Given the description of an element on the screen output the (x, y) to click on. 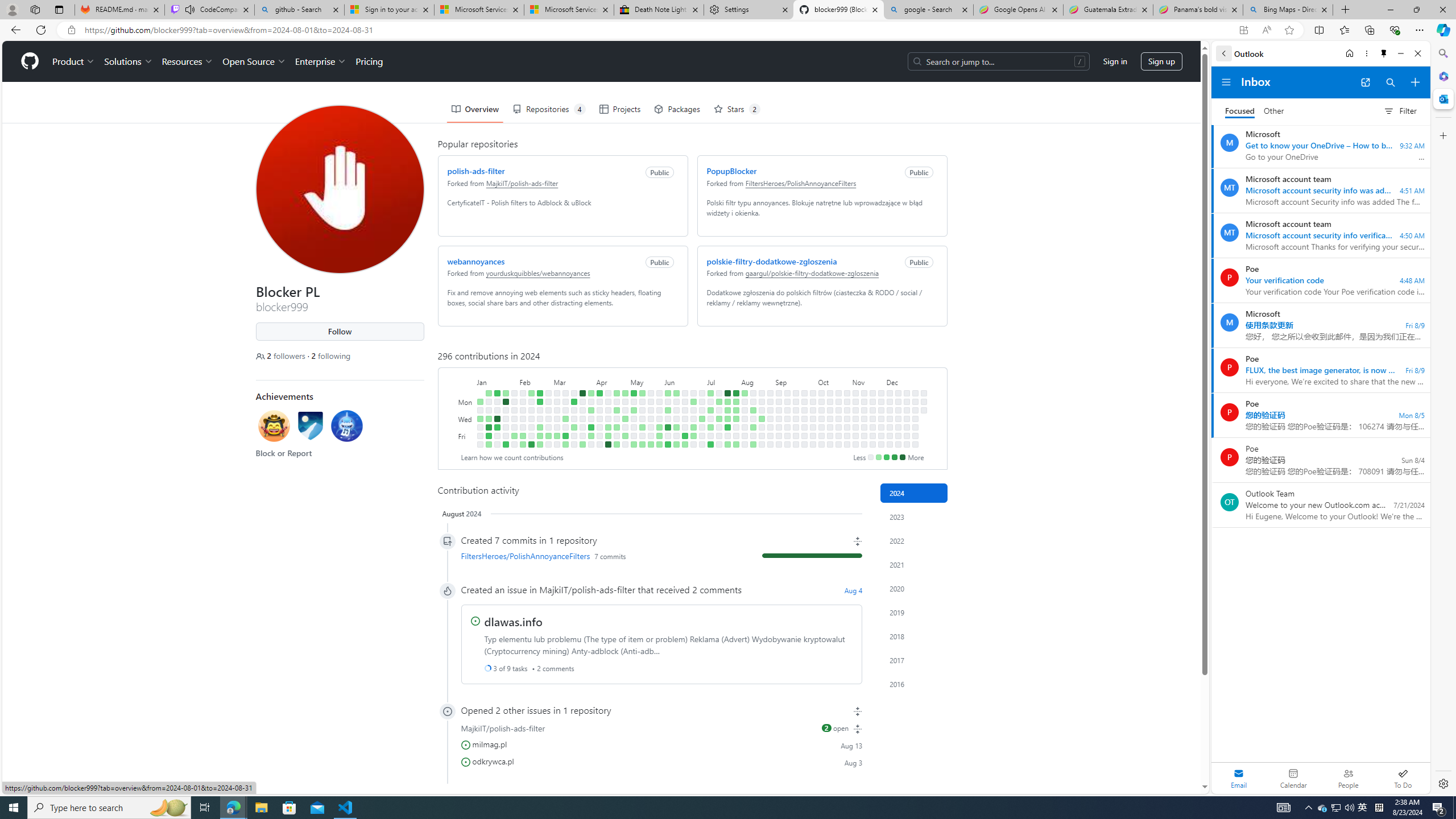
April (611, 380)
No contributions on December 24th. (914, 410)
No contributions on January 9th. (488, 410)
7 commits (610, 556)
No contributions on May 27th. (658, 401)
No contributions on November 21st. (872, 427)
No contributions on May 9th. (633, 427)
No contributions on November 8th. (855, 435)
Google Opens AI Academy for Startups - Nearshore Americas (1018, 9)
No contributions on April 10th. (598, 418)
September (795, 380)
milmag.pl (488, 743)
No contributions on October 18th. (829, 435)
2 contributions on June 22nd. (684, 444)
2024 (913, 492)
